Given the description of an element on the screen output the (x, y) to click on. 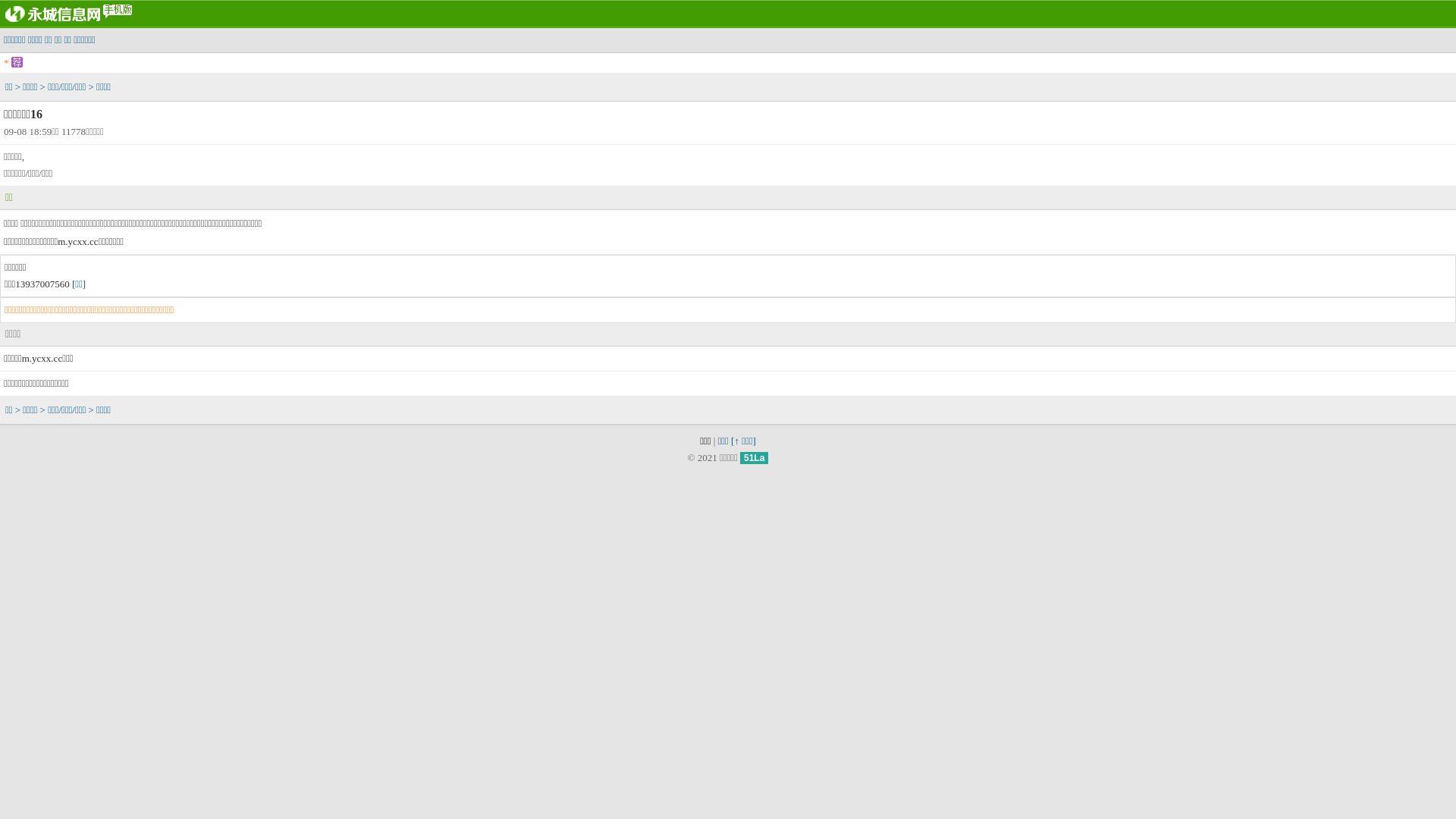
* Element type: text (6, 62)
51La Element type: text (754, 457)
